Given the description of an element on the screen output the (x, y) to click on. 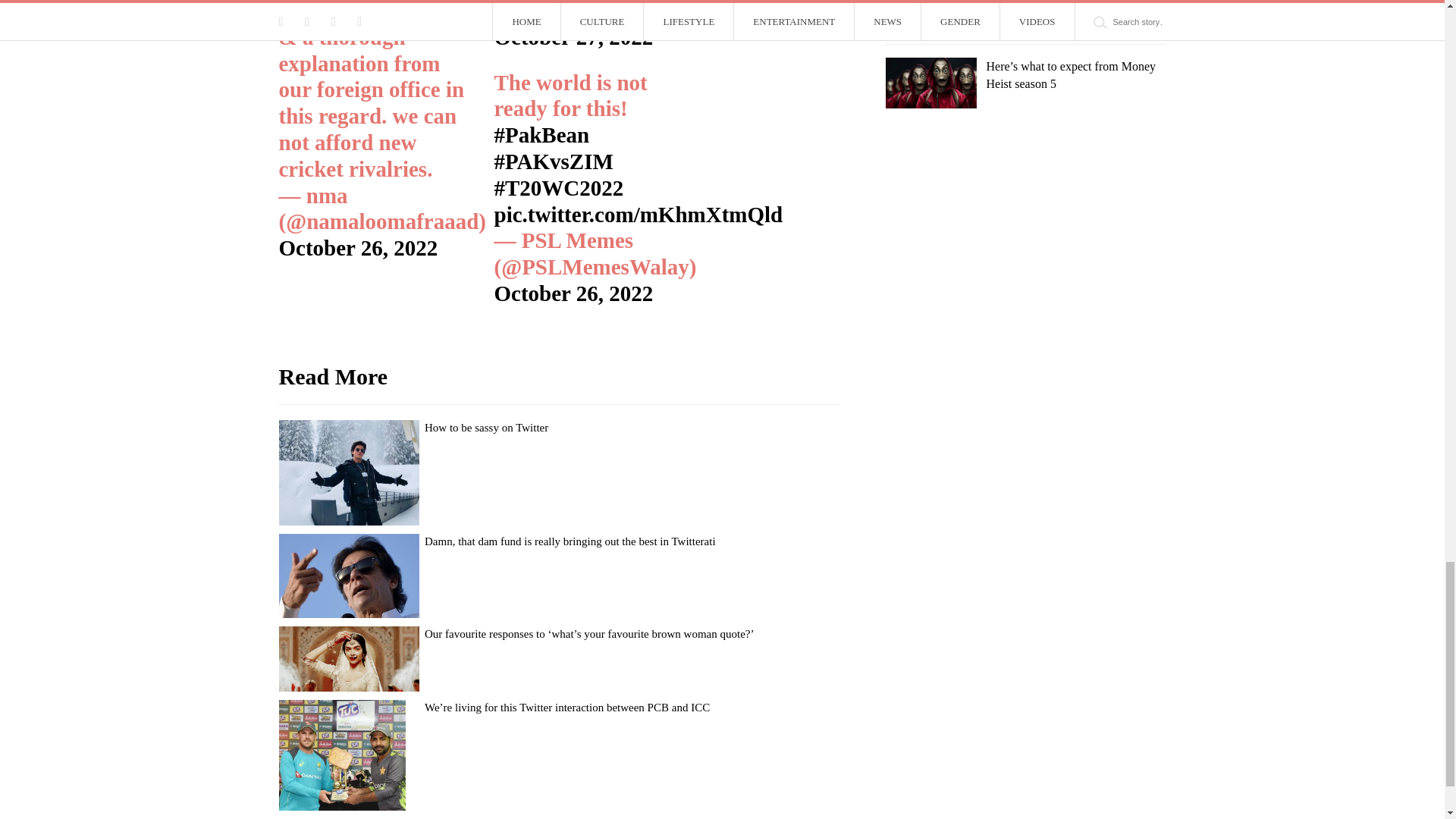
October 26, 2022 (574, 293)
October 27, 2022 (574, 37)
October 26, 2022 (358, 247)
Permanent Link to How to be sassy on Twitter (486, 427)
